Given the description of an element on the screen output the (x, y) to click on. 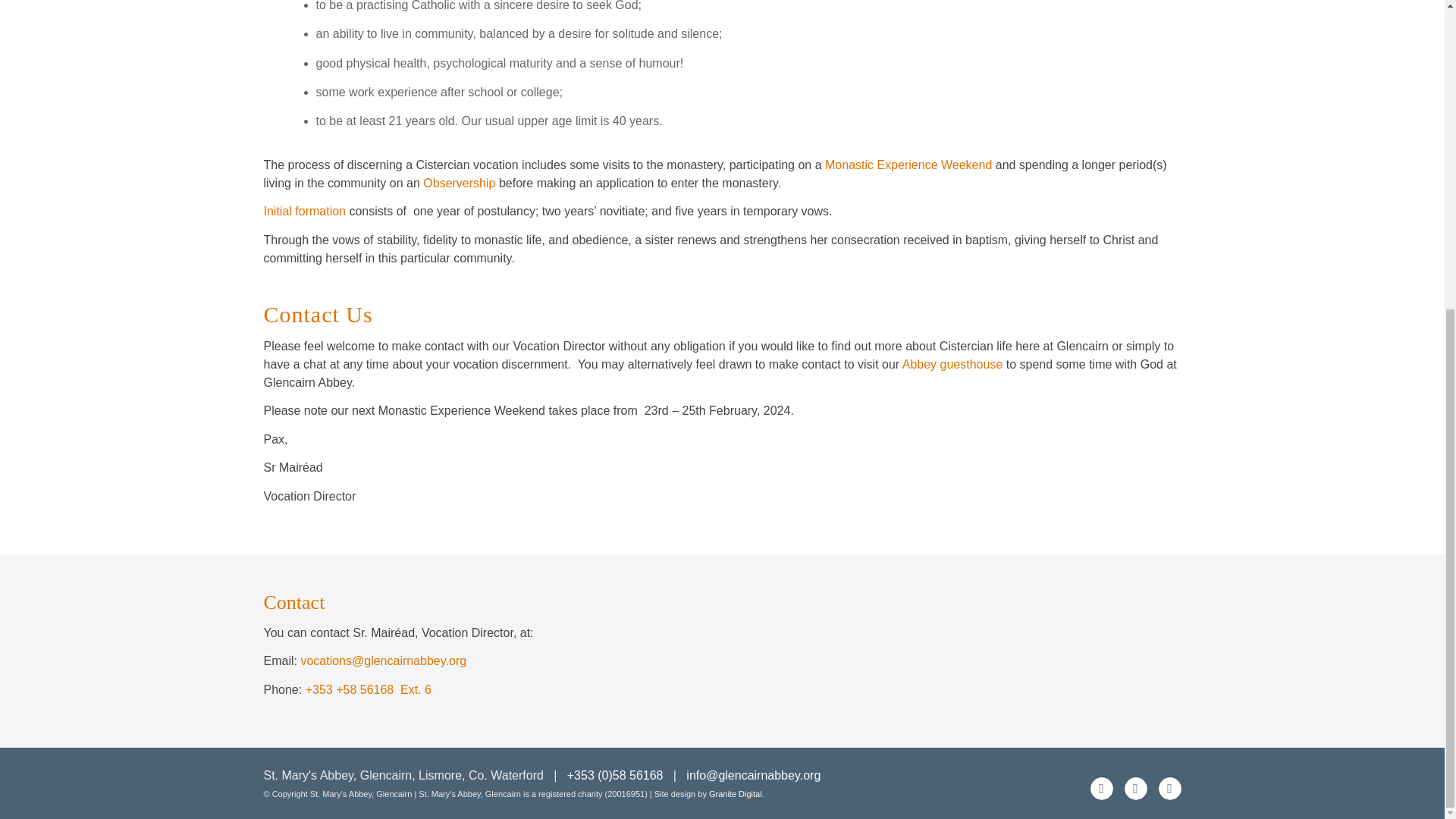
Instagram (1169, 788)
Youtube (1135, 788)
Facebook (1101, 788)
